Given the description of an element on the screen output the (x, y) to click on. 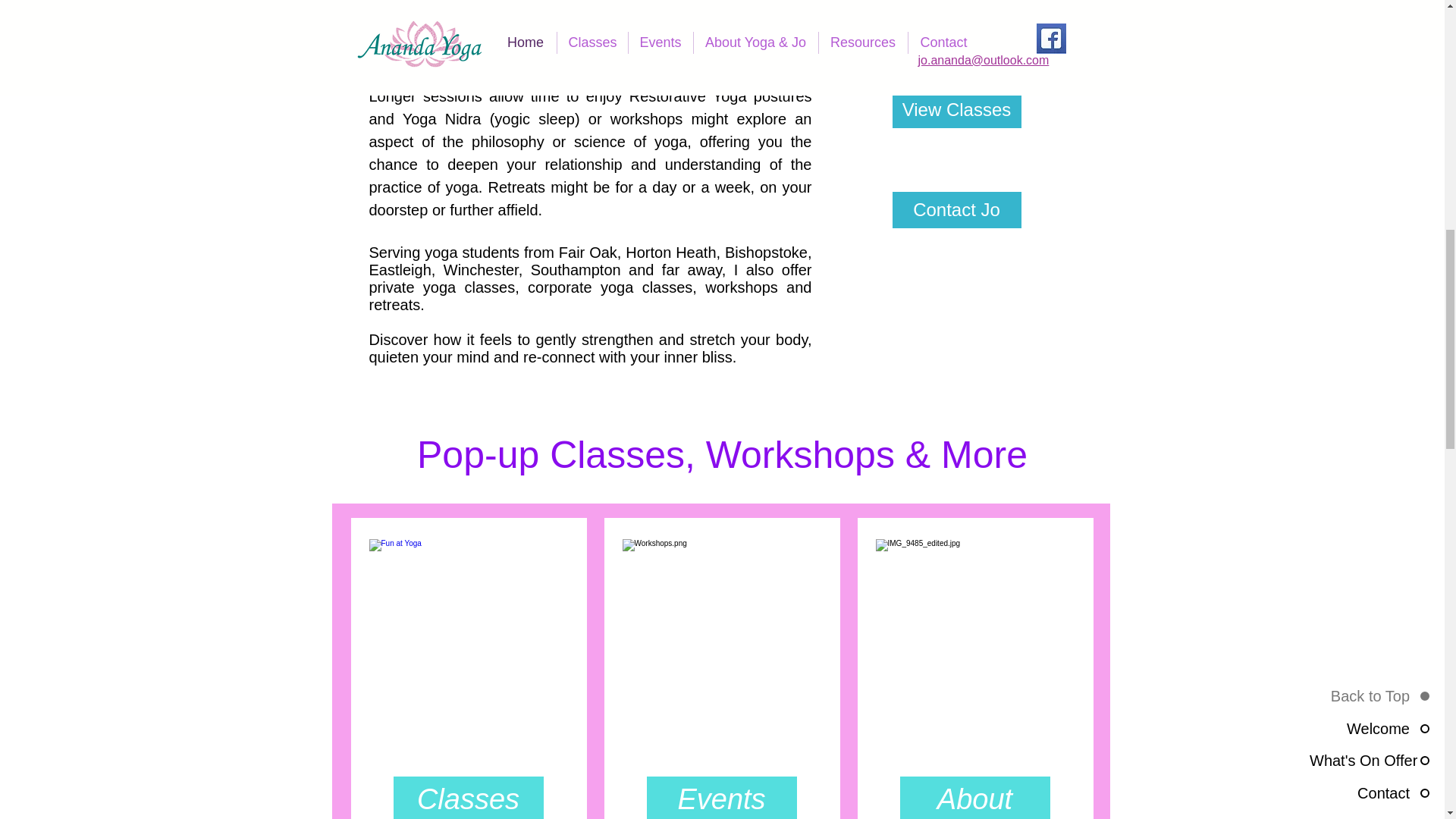
Contact Jo (955, 209)
Events (721, 797)
About (974, 797)
View Classes (955, 109)
Resources Page (424, 6)
Classes (468, 797)
